Given the description of an element on the screen output the (x, y) to click on. 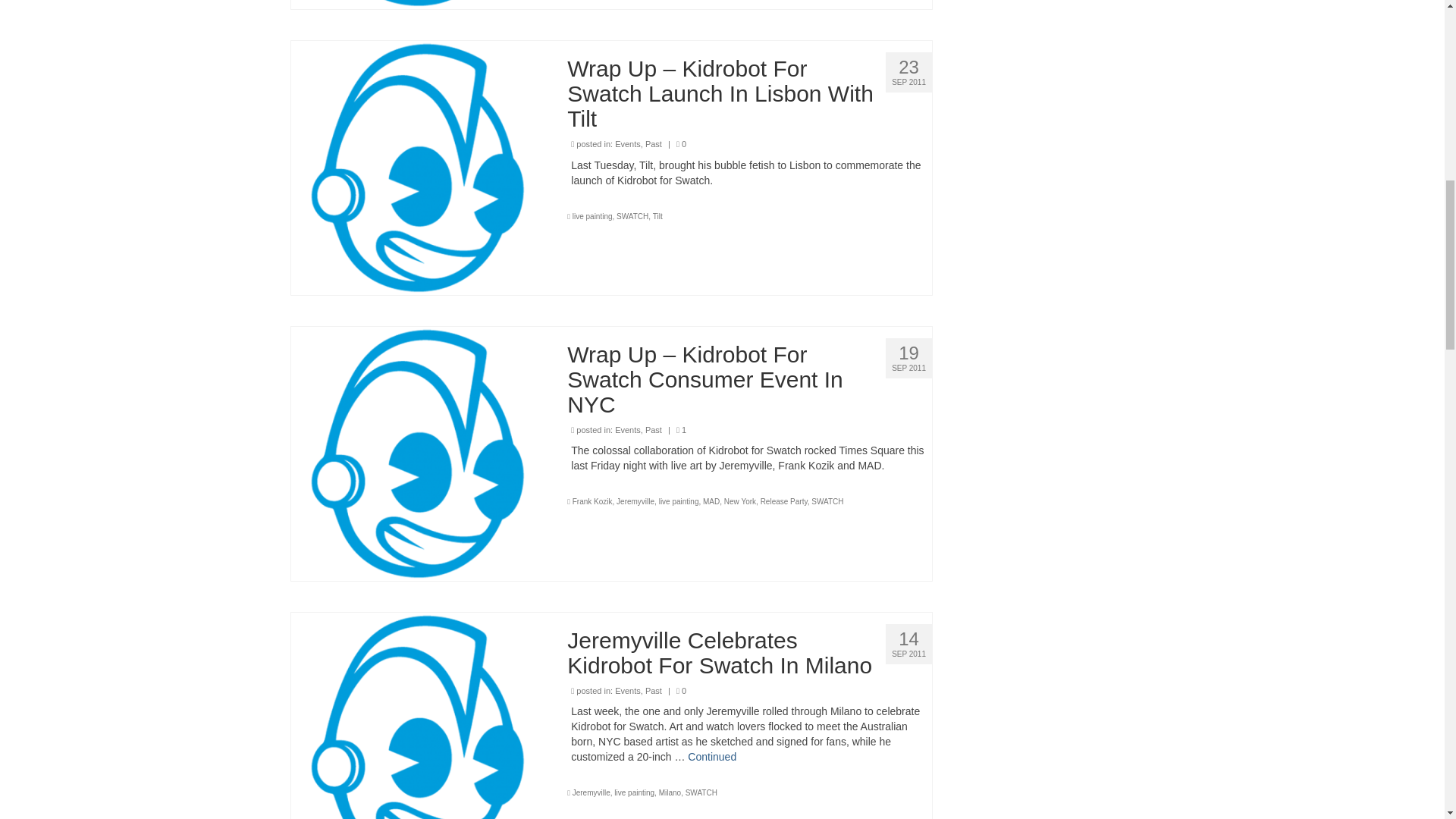
Jeremyville Celebrates Kidrobot For Swatch In Milano (417, 738)
